Given the description of an element on the screen output the (x, y) to click on. 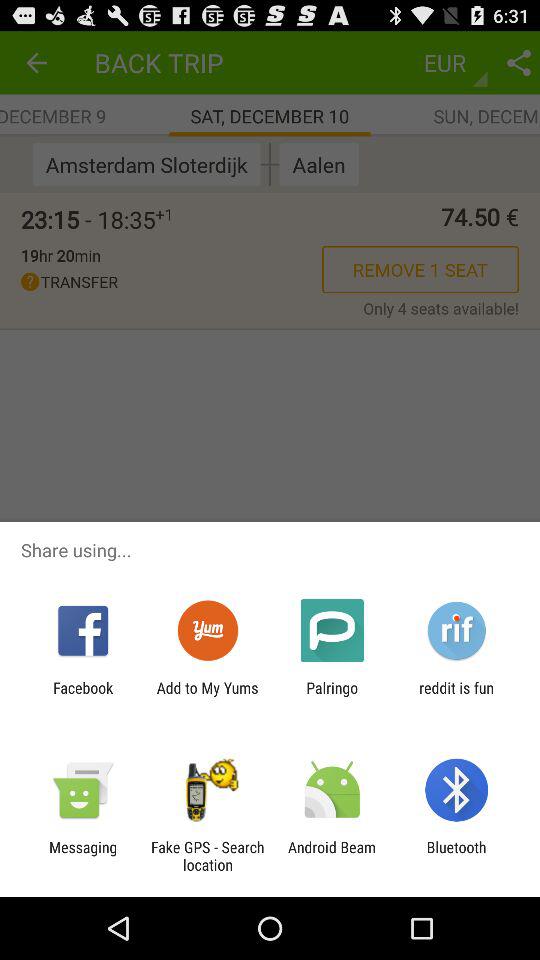
click the item to the right of add to my item (332, 696)
